Given the description of an element on the screen output the (x, y) to click on. 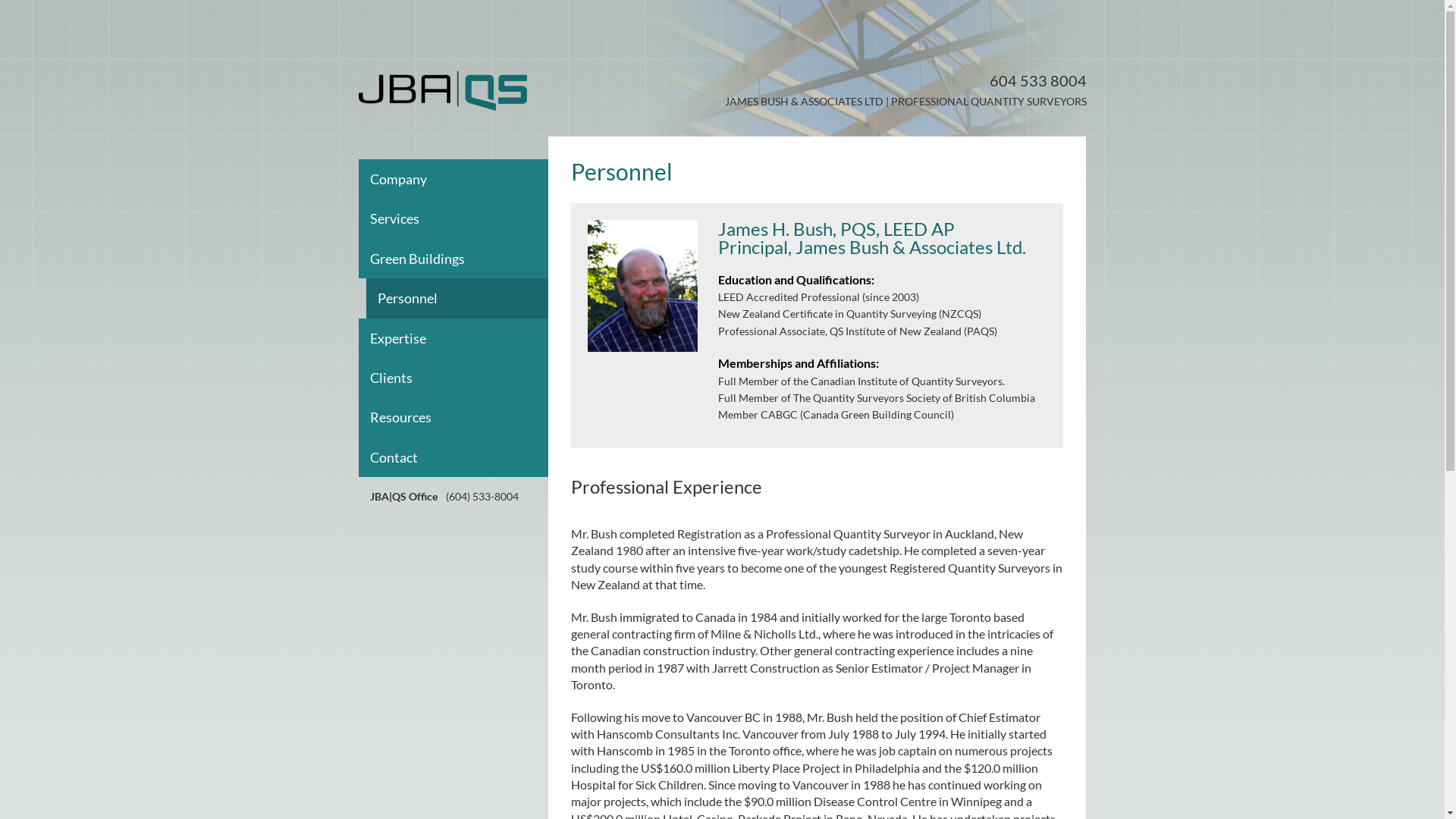
Company Element type: text (463, 178)
Contact Element type: text (463, 456)
Clients Element type: text (463, 377)
Resources Element type: text (463, 416)
James Bush Element type: hover (641, 285)
Personnel Element type: text (471, 297)
Green Buildings Element type: text (463, 258)
Expertise Element type: text (463, 337)
Services Element type: text (463, 218)
